Given the description of an element on the screen output the (x, y) to click on. 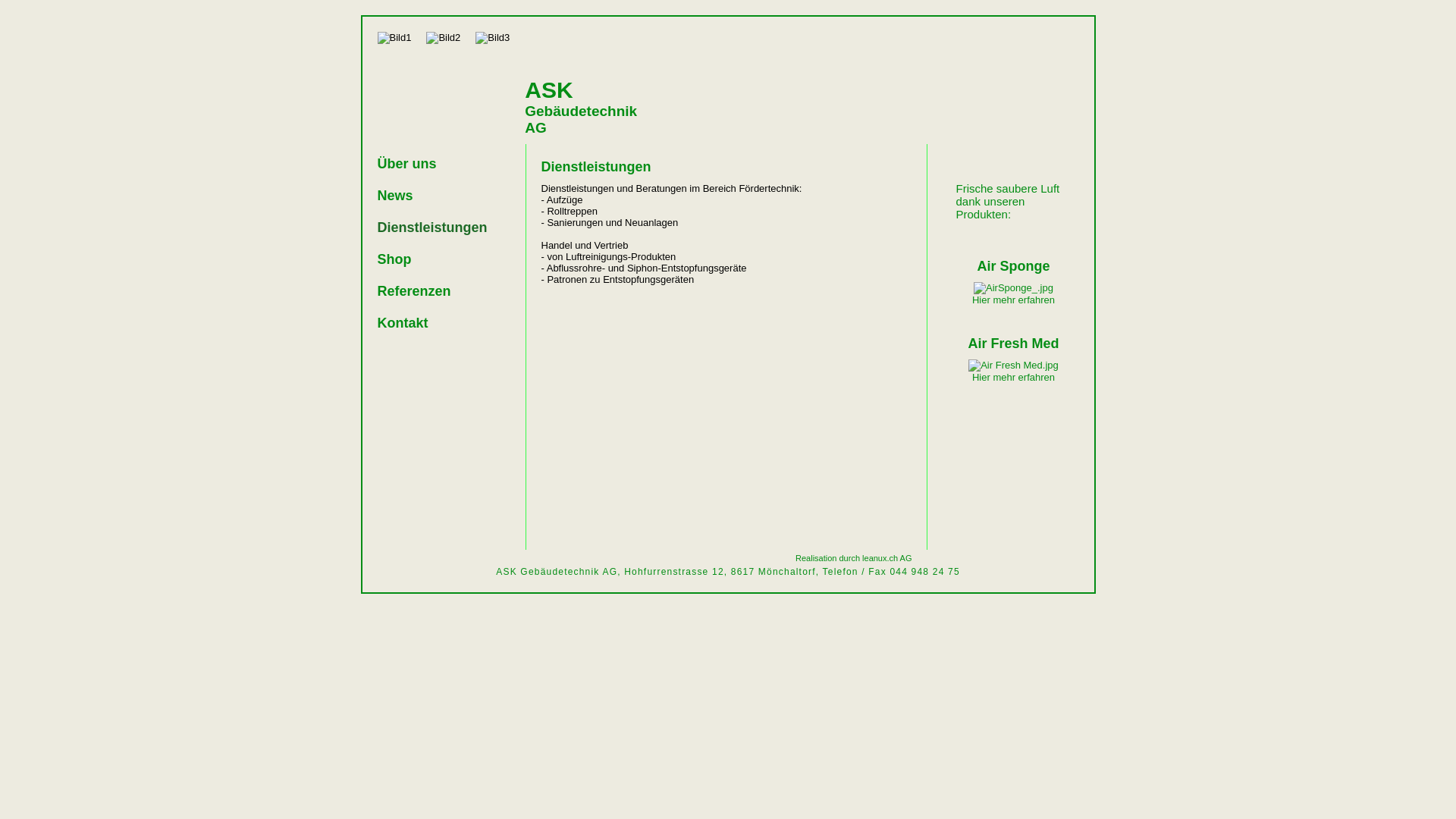
Hier mehr erfahren Element type: text (1013, 299)
Hier erfahren Sie mehr Element type: hover (1013, 287)
Referenzen Element type: text (434, 290)
Shop Element type: text (434, 259)
News Element type: text (434, 195)
Realisation durch leanux.ch AG Element type: text (853, 557)
Dienstleistungen Element type: text (434, 227)
Kontakt Element type: text (434, 322)
Hier mehr erfahren Element type: text (1013, 376)
